Given the description of an element on the screen output the (x, y) to click on. 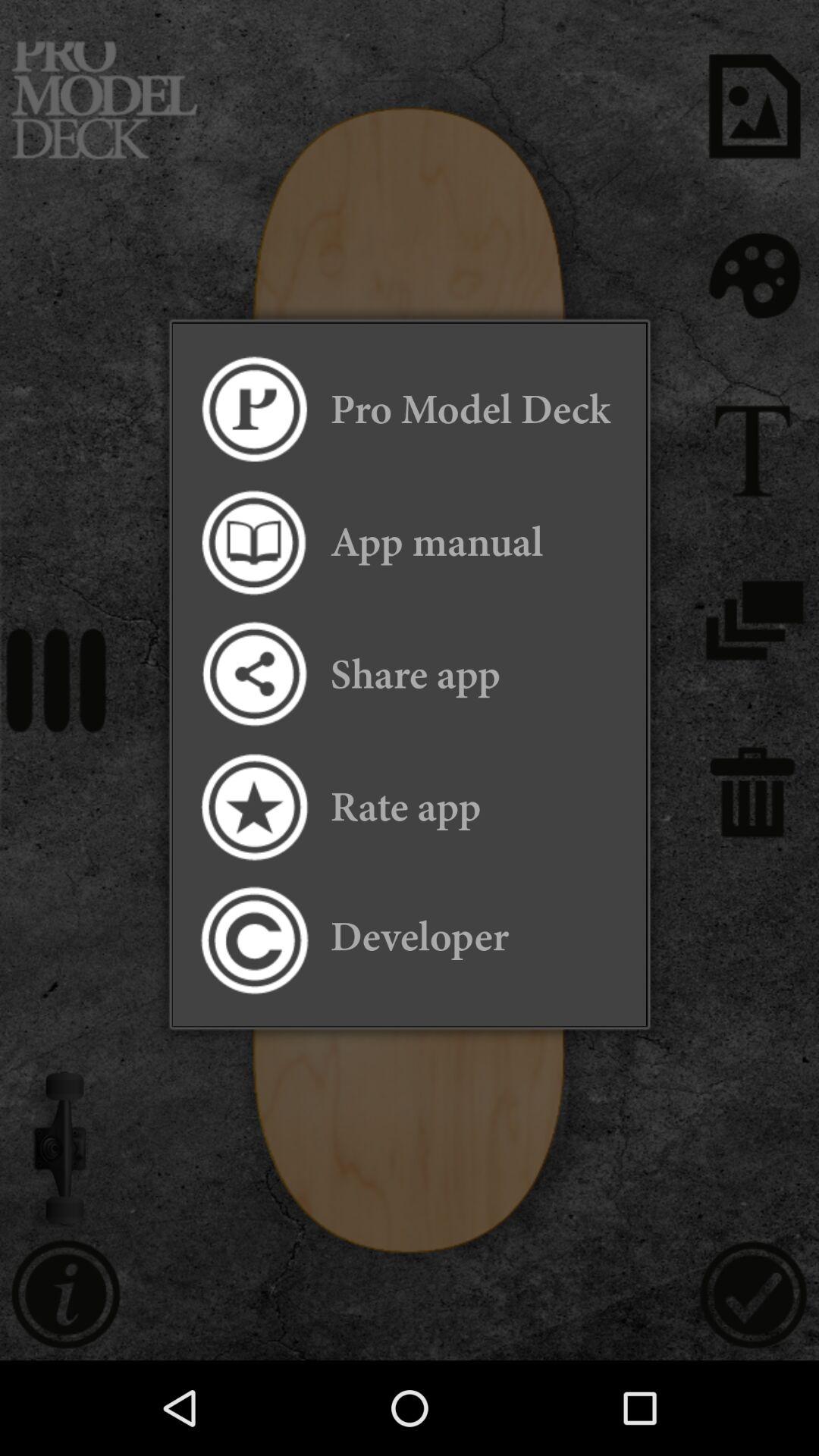
tap app next to share app (253, 674)
